Given the description of an element on the screen output the (x, y) to click on. 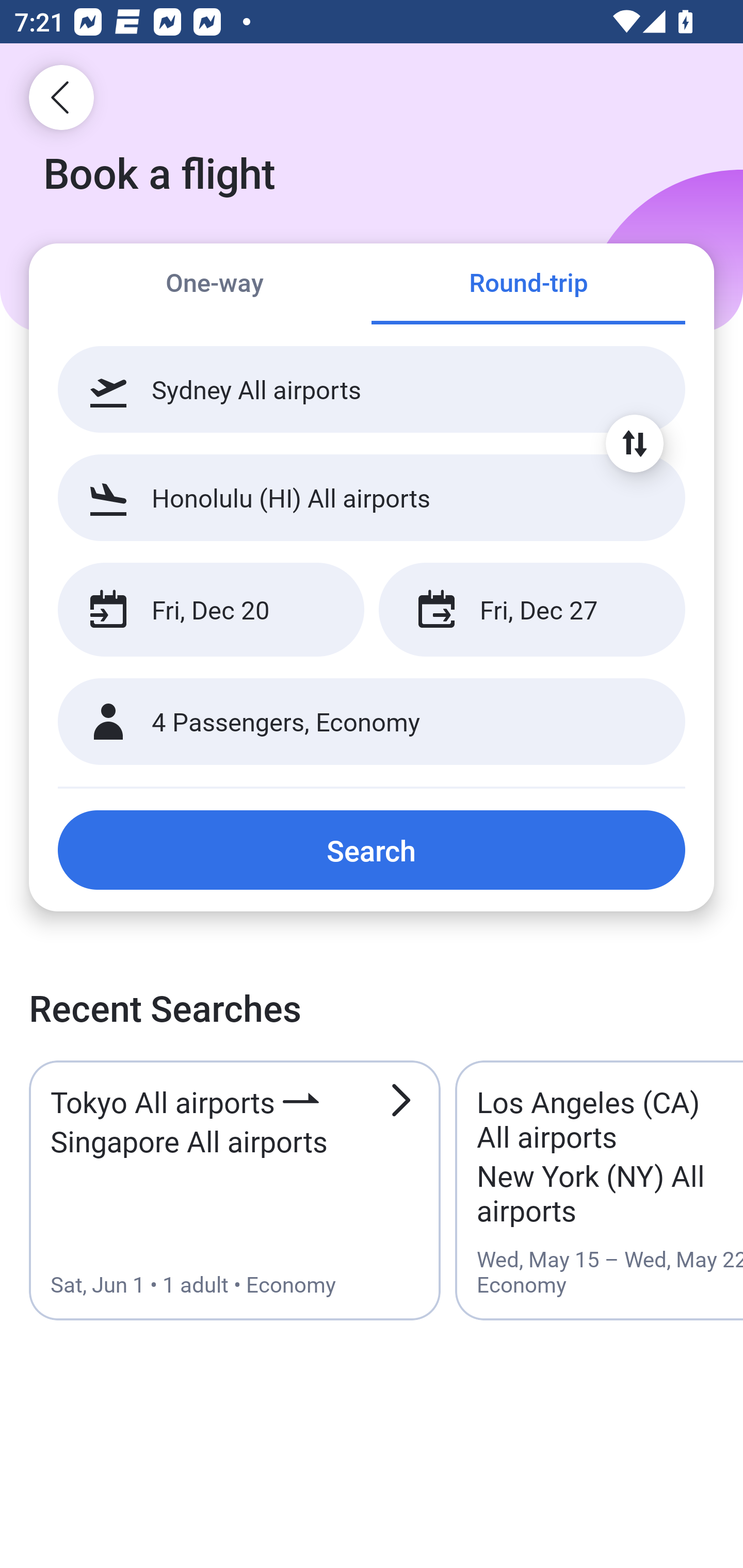
One-way (214, 284)
Sydney All airports (371, 389)
Honolulu (HI) All airports (371, 497)
Fri, Dec 20 (210, 609)
Fri, Dec 27 (531, 609)
4 Passengers, Economy (371, 721)
Search (371, 849)
